Given the description of an element on the screen output the (x, y) to click on. 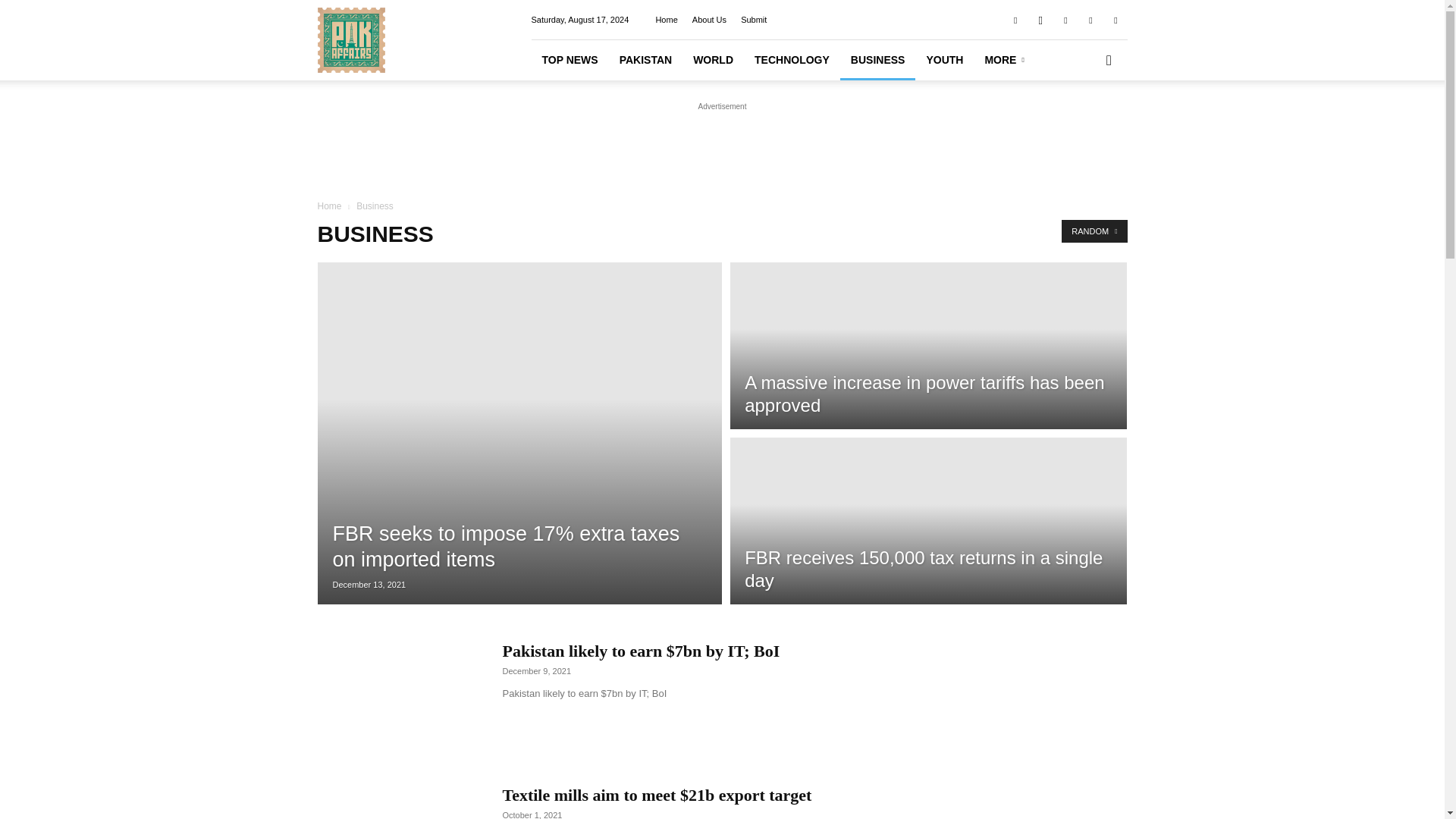
Submit (754, 19)
YOUTH (944, 60)
Twitter (1090, 19)
Home (666, 19)
BUSINESS (877, 60)
Advertisement (721, 148)
PAKISTAN (645, 60)
About Us (709, 19)
Instagram (1040, 19)
WORLD (713, 60)
